Given the description of an element on the screen output the (x, y) to click on. 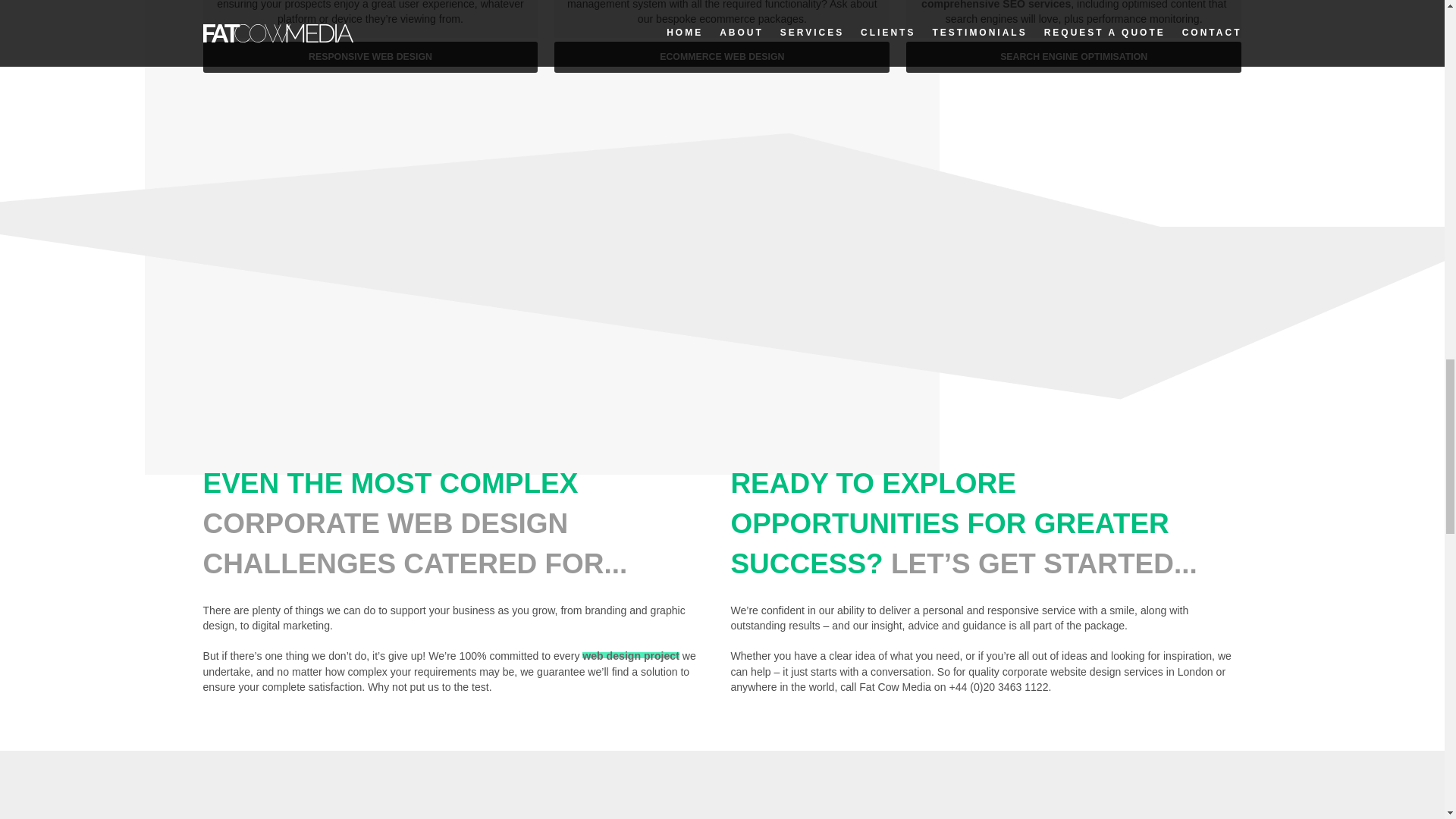
comprehensive SEO services (995, 4)
ECOMMERCE WEB DESIGN (721, 56)
web design project (630, 655)
